Given the description of an element on the screen output the (x, y) to click on. 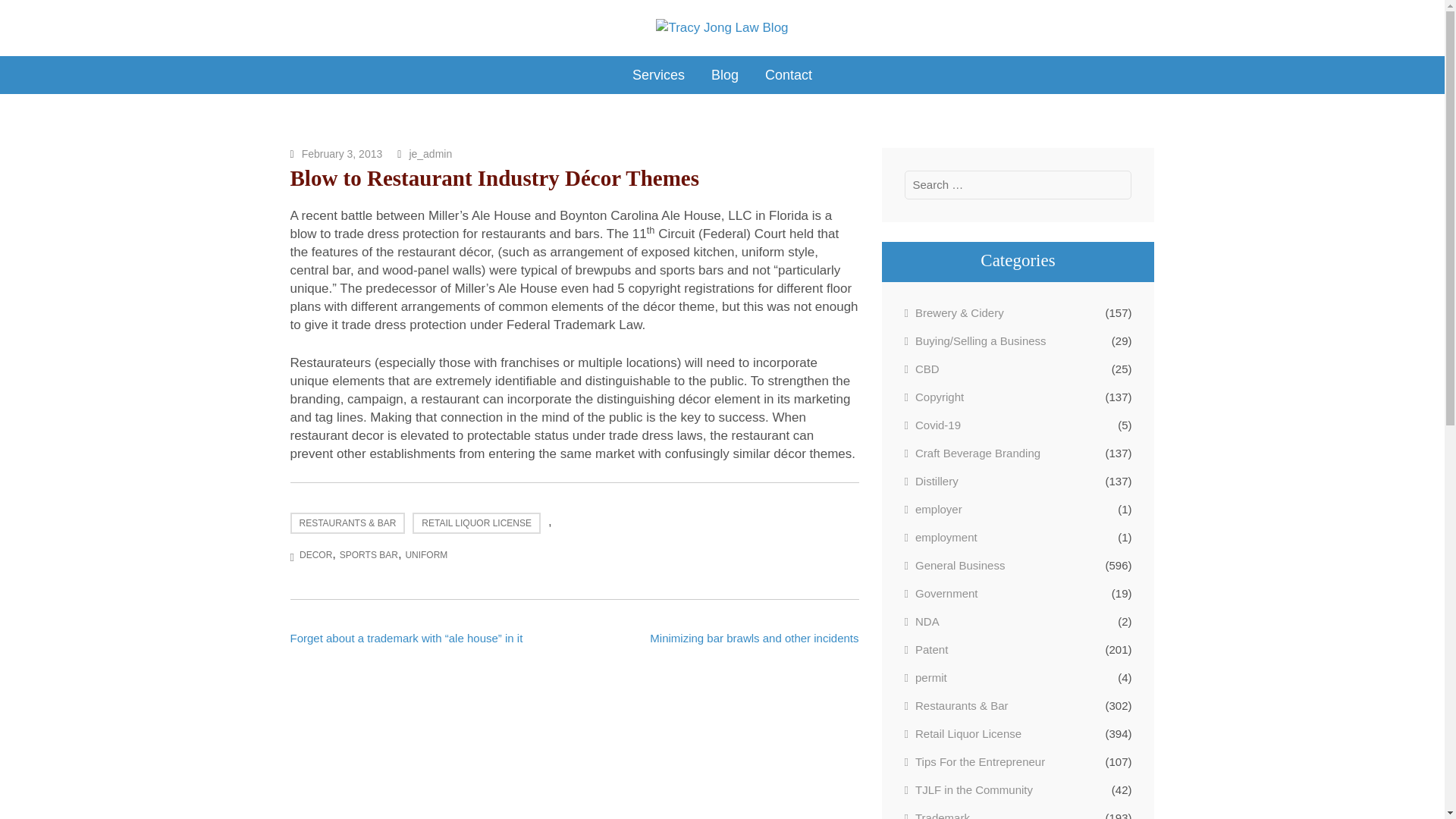
Tips For the Entrepreneur (974, 761)
TRACY JONG LAW BLOG (437, 49)
Government (940, 593)
NDA (921, 620)
UNIFORM (425, 554)
RETAIL LIQUOR LICENSE (476, 522)
Services (658, 75)
General Business (954, 564)
employer (932, 508)
Contact (789, 75)
